Given the description of an element on the screen output the (x, y) to click on. 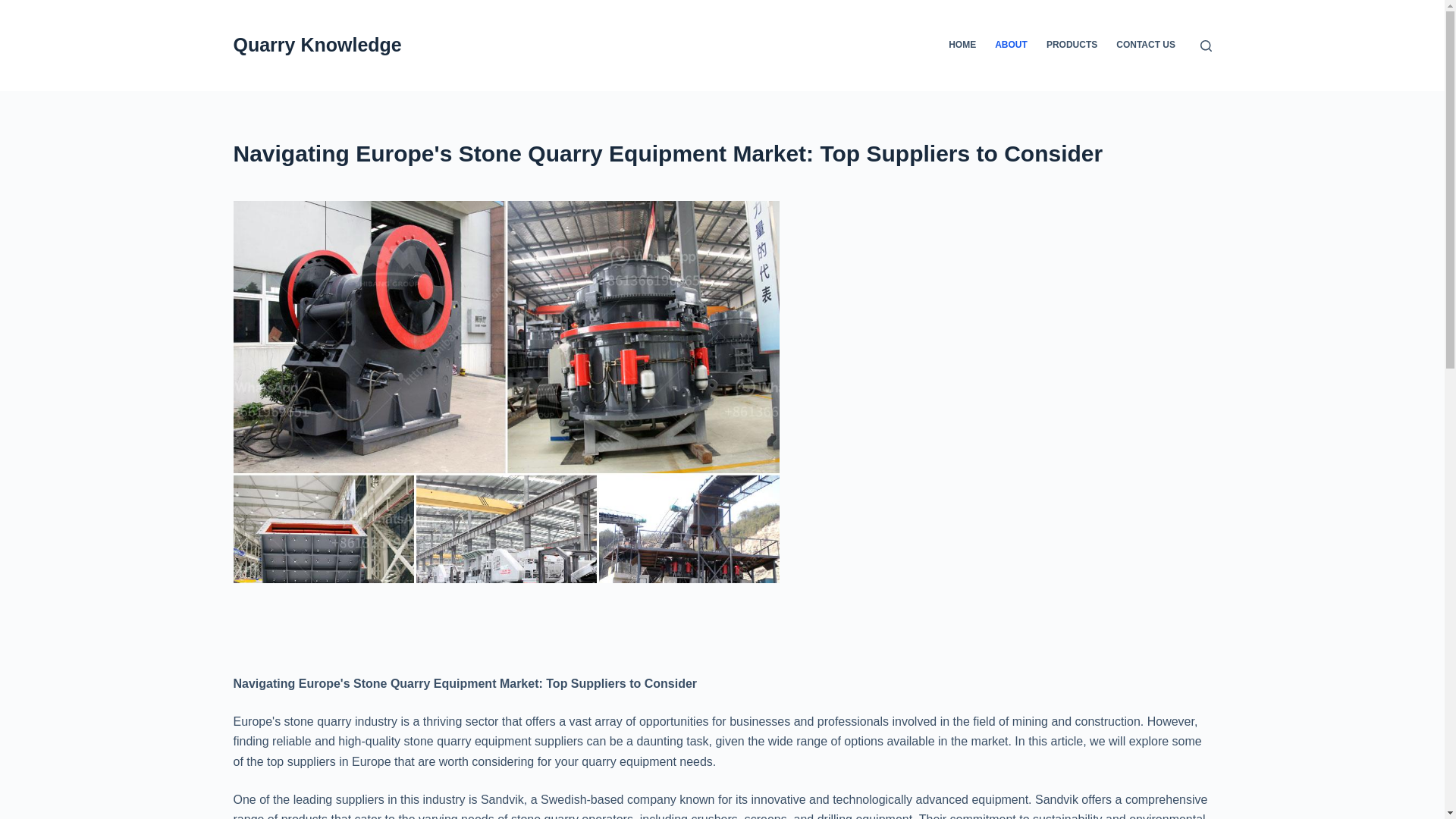
About (721, 153)
Skip to content (15, 7)
Quarry Knowledge (316, 44)
